Given the description of an element on the screen output the (x, y) to click on. 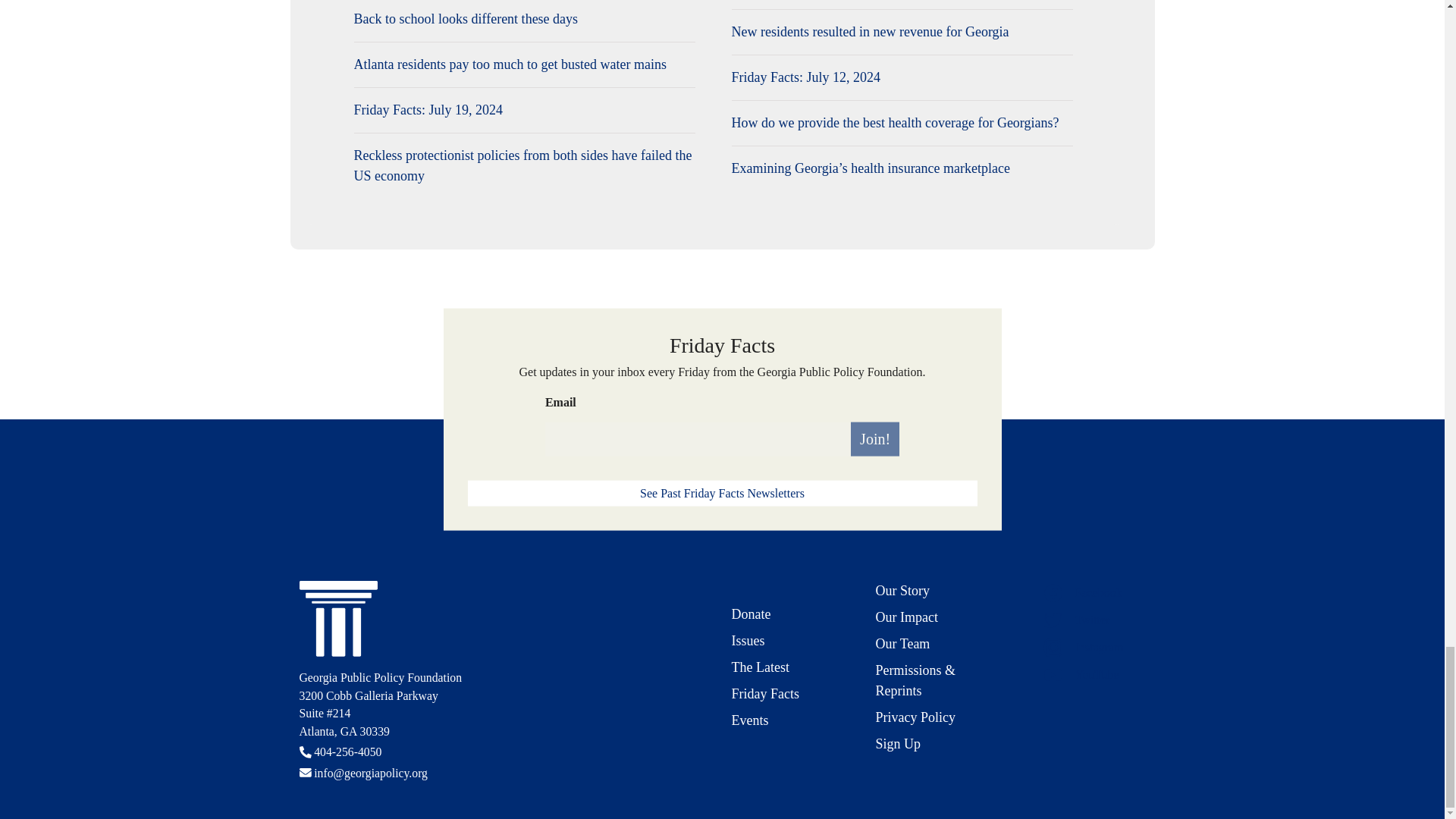
Join! (874, 438)
